Given the description of an element on the screen output the (x, y) to click on. 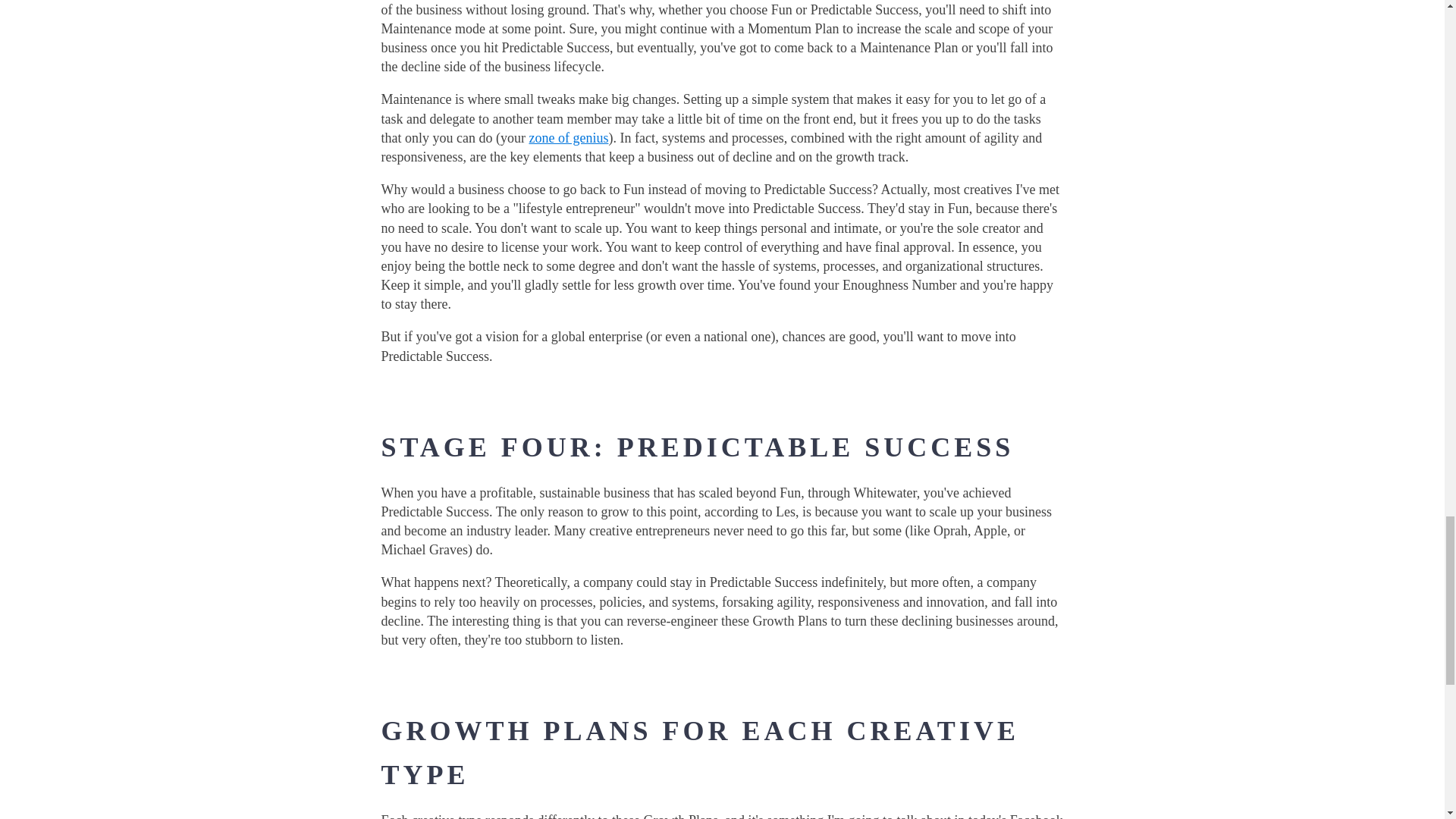
zone of genius (568, 137)
